Given the description of an element on the screen output the (x, y) to click on. 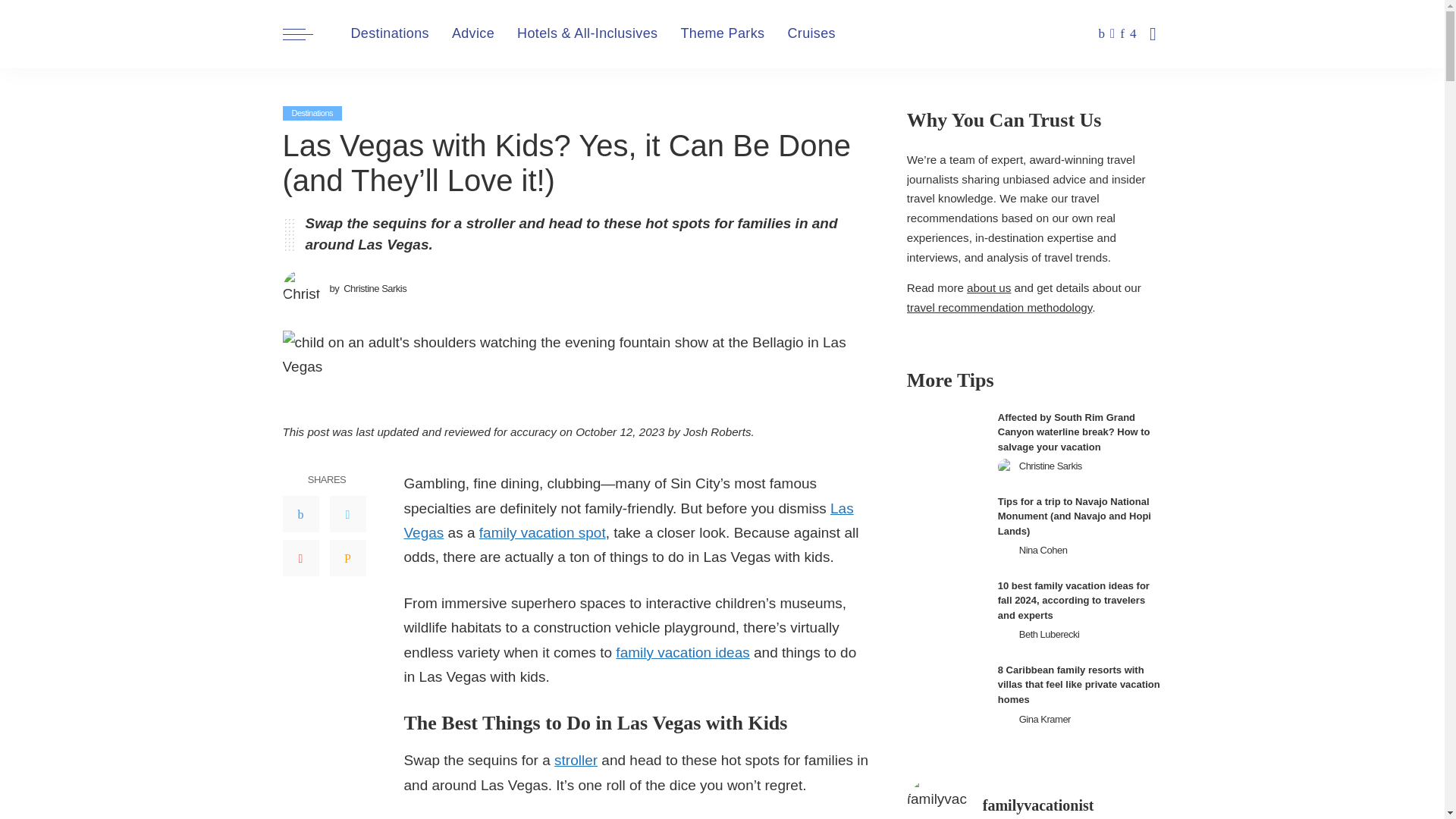
Cruises (811, 33)
Advice (473, 33)
Theme Parks (722, 33)
Cruises (811, 33)
Destinations (390, 33)
Search (1140, 98)
